Given the description of an element on the screen output the (x, y) to click on. 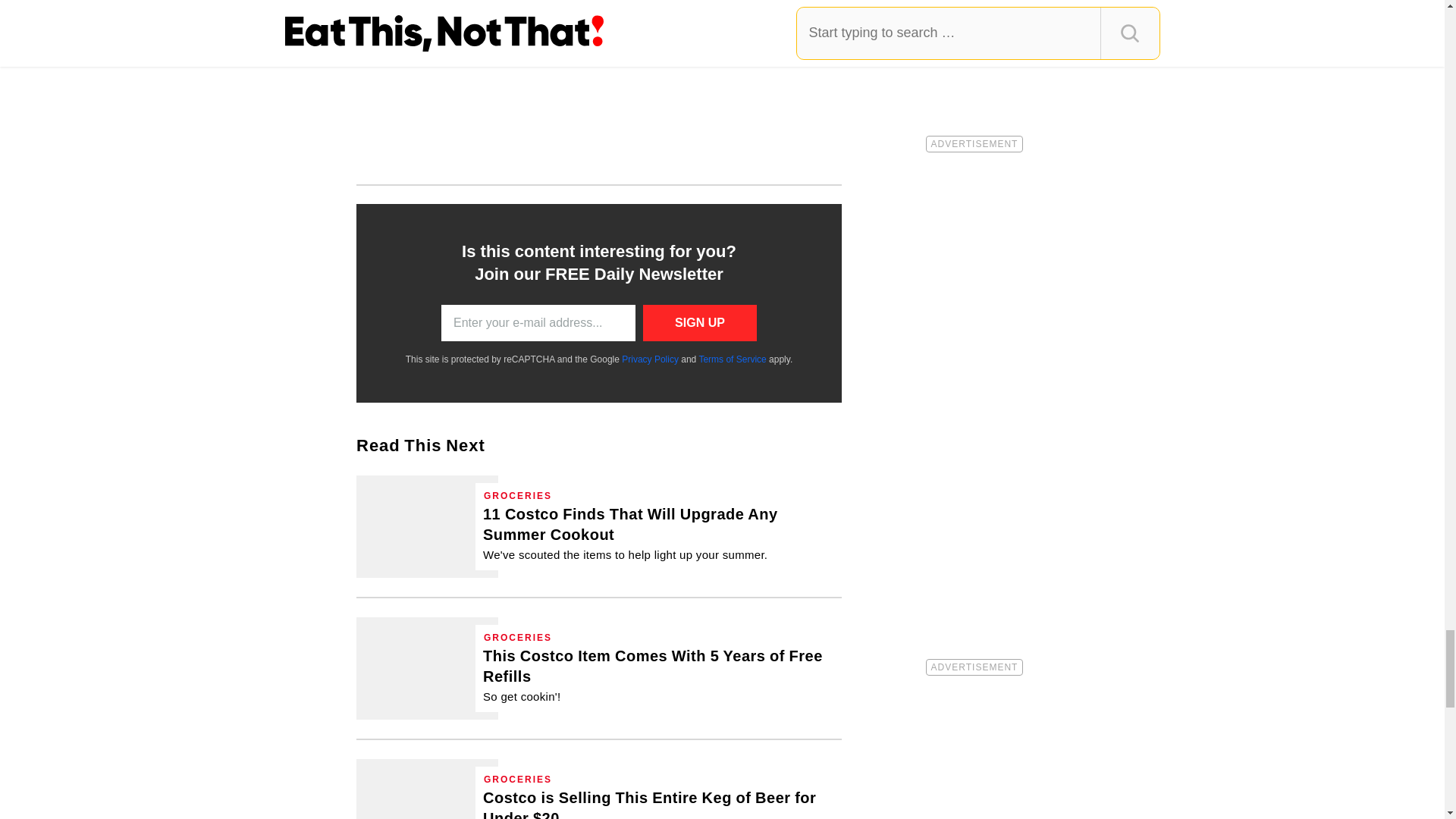
This Costco Item Comes With 5 Years of Free Refills (658, 675)
11 Costco Finds That Will Upgrade Any Summer Cookout (426, 526)
11 Costco Finds That Will Upgrade Any Summer Cookout (658, 533)
This Costco Item Comes With 5 Years of Free Refills (426, 668)
